Given the description of an element on the screen output the (x, y) to click on. 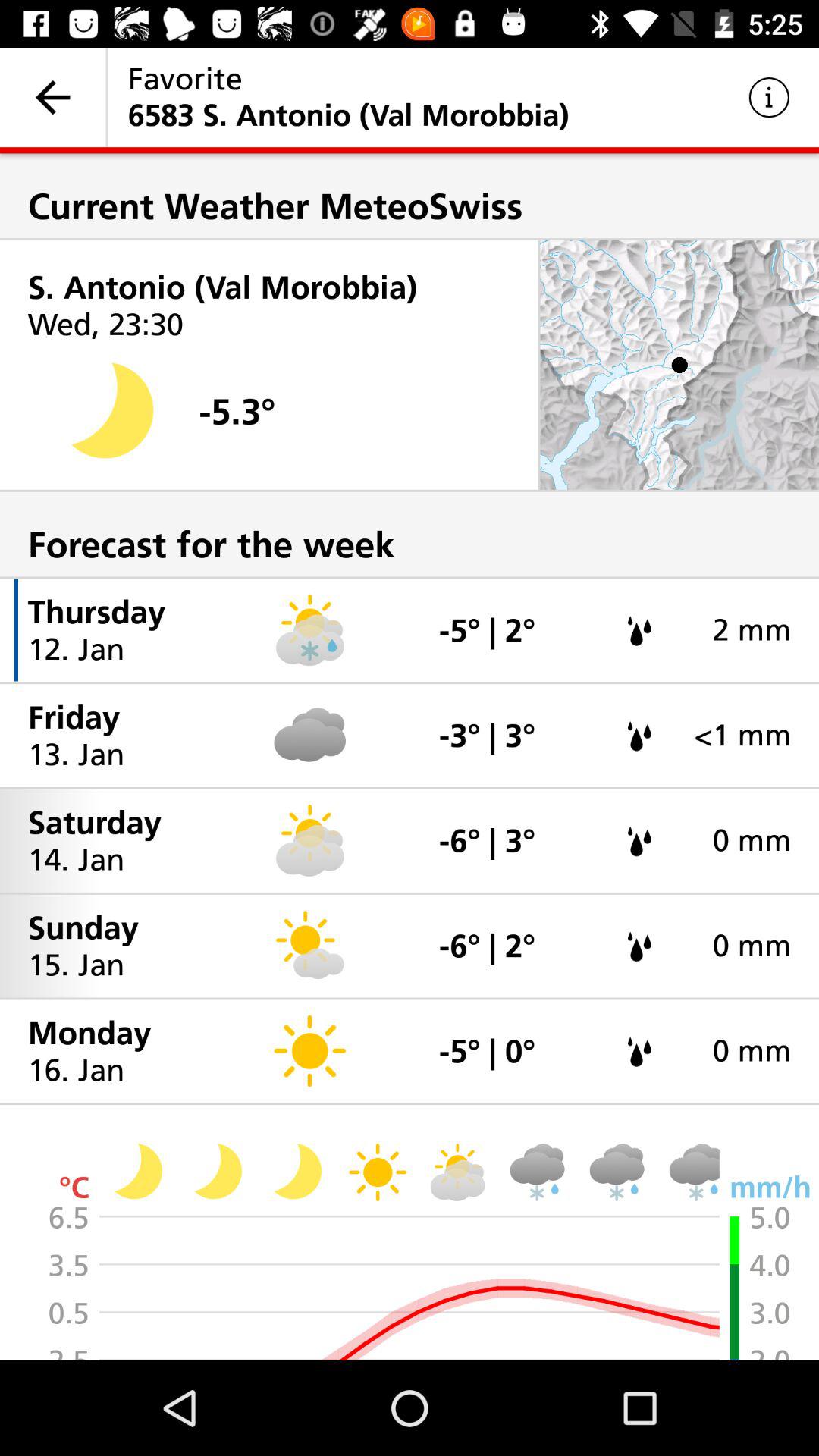
turn on the icon to the left of the favorite item (52, 97)
